Given the description of an element on the screen output the (x, y) to click on. 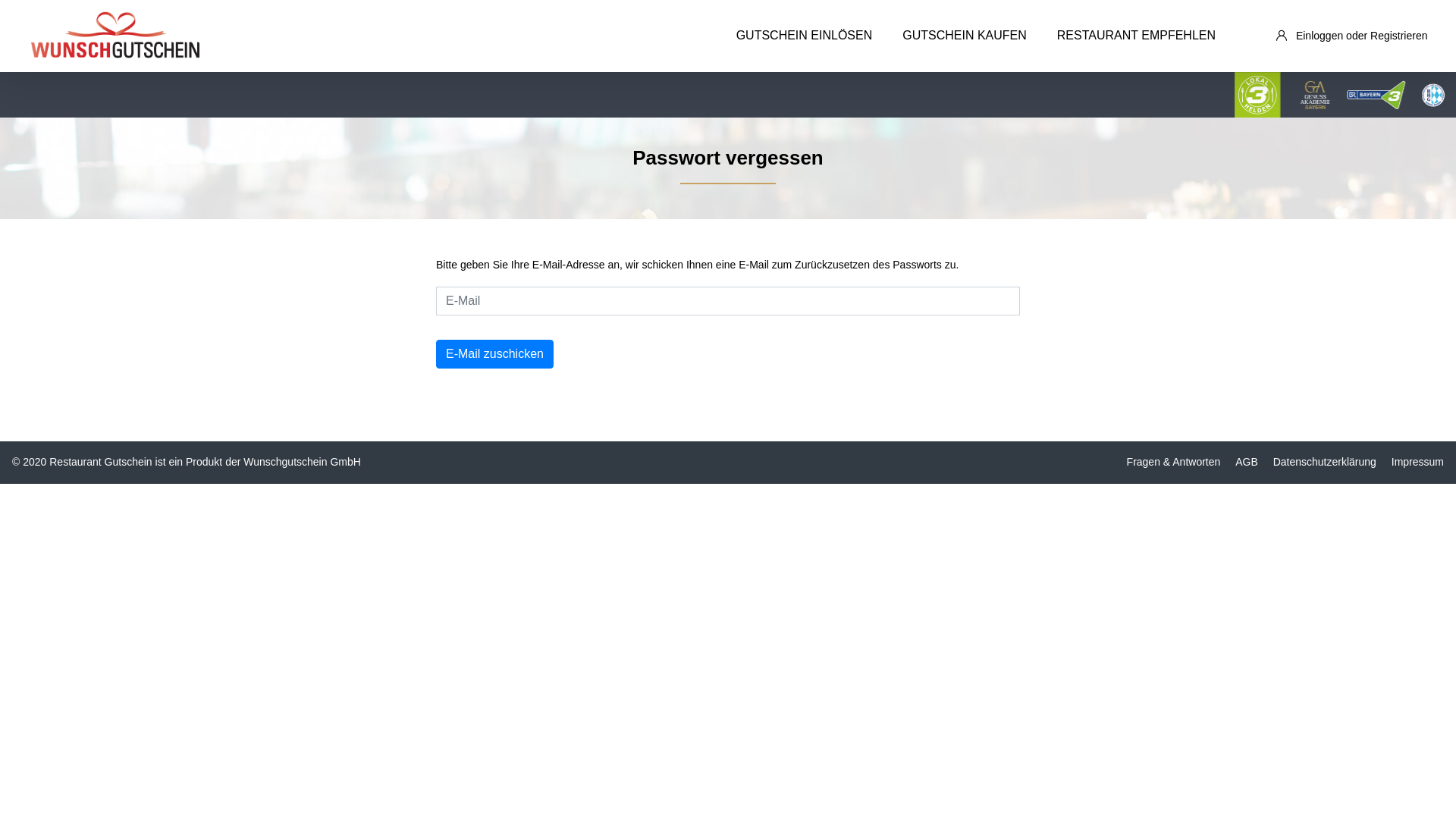
Wunschgutschein Logo Element type: hover (115, 35)
Fragen & Antworten Element type: text (1173, 461)
Impressum Element type: text (1417, 461)
Einloggen Element type: text (1319, 35)
E-Mail zuschicken Element type: text (494, 353)
RESTAURANT EMPFEHLEN Element type: text (1136, 35)
Registrieren Element type: text (1398, 35)
GUTSCHEIN KAUFEN Element type: text (964, 35)
AGB Element type: text (1246, 461)
